Given the description of an element on the screen output the (x, y) to click on. 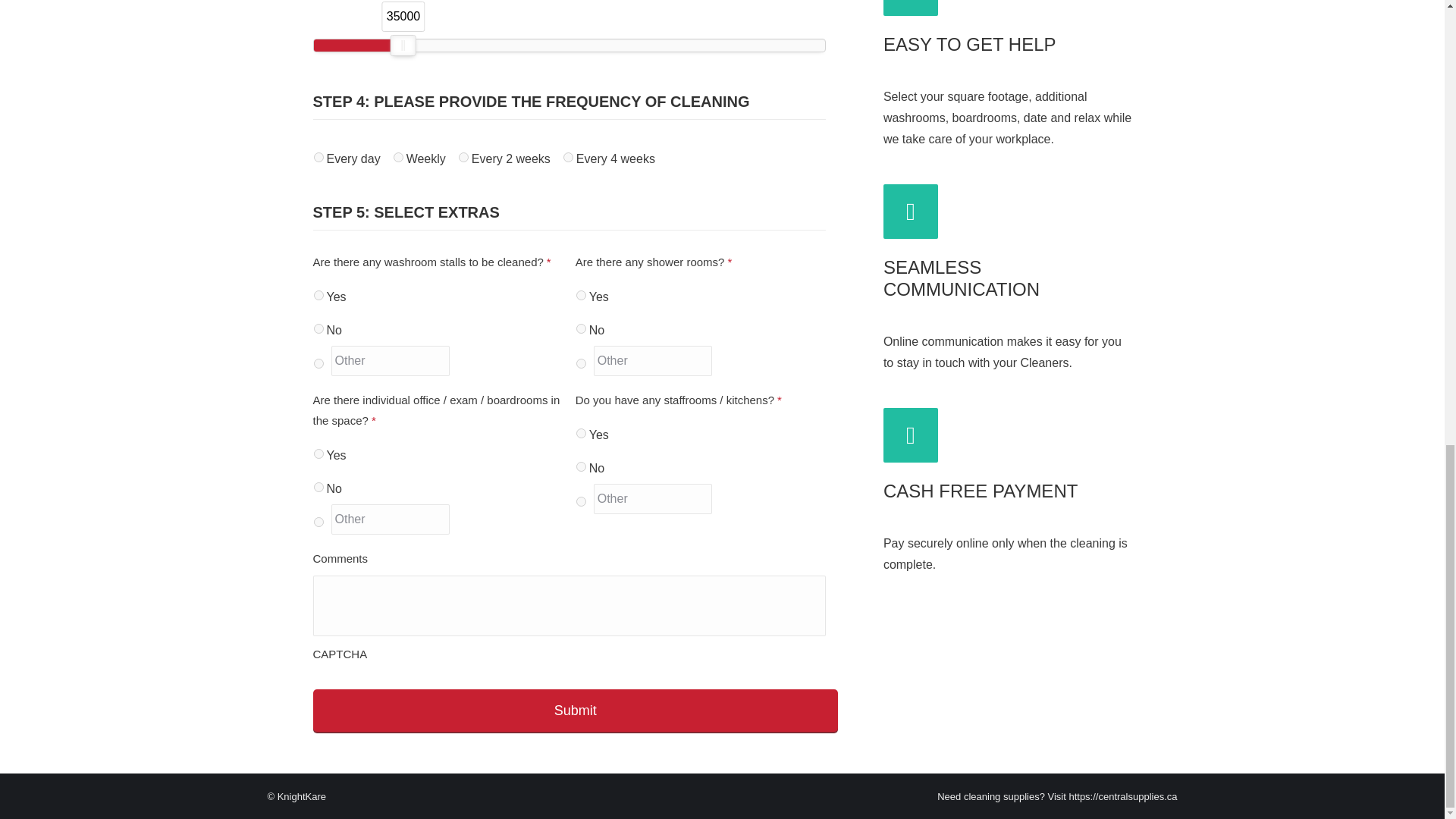
No (318, 327)
Other (389, 360)
Submit (575, 710)
Yes (318, 294)
Every 2 weeks (463, 156)
Yes (318, 453)
Every 4 weeks (568, 156)
Other (653, 360)
Yes (581, 294)
Weekly (398, 156)
Every day (318, 156)
No (581, 327)
